Given the description of an element on the screen output the (x, y) to click on. 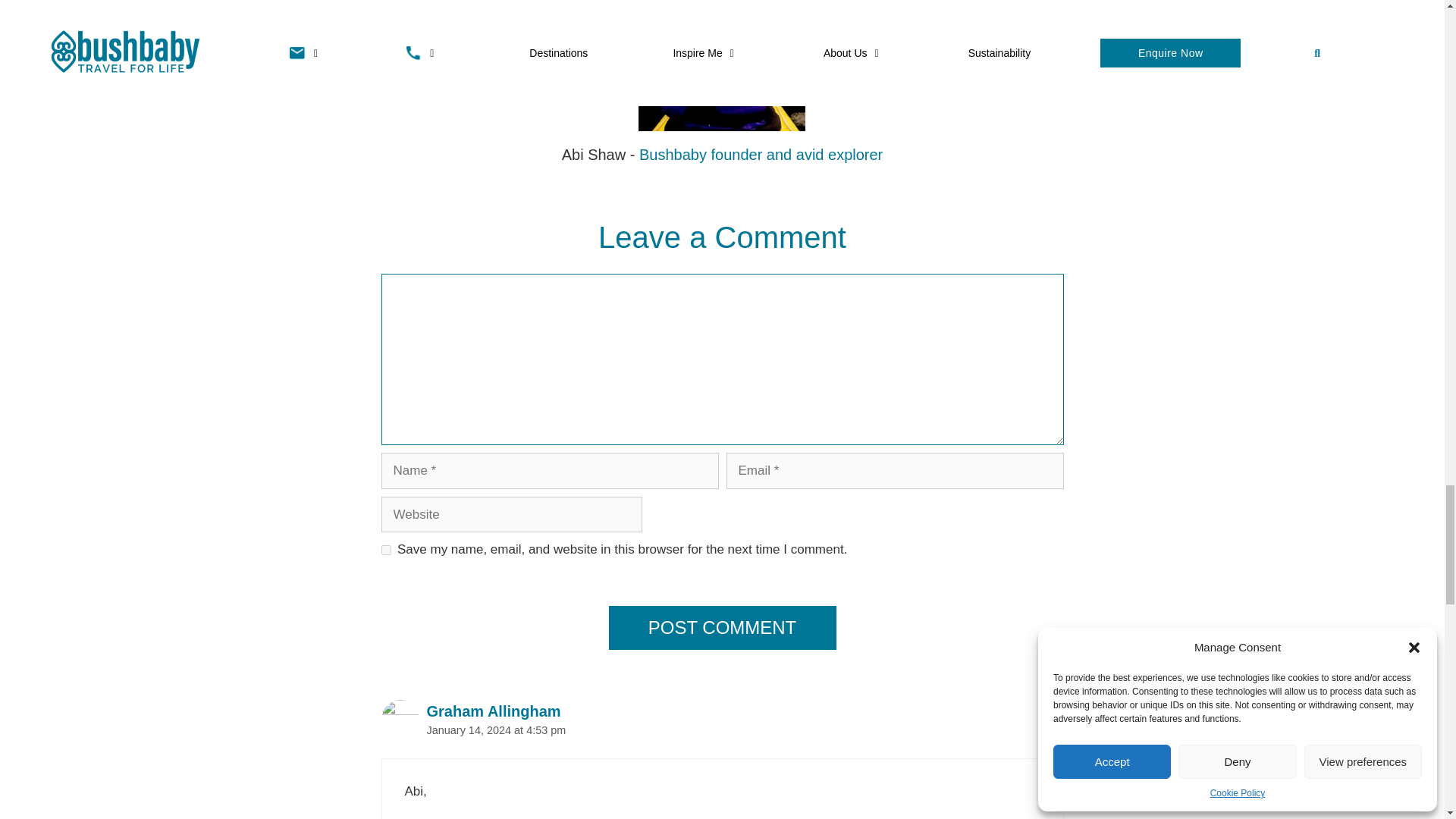
Post Comment (721, 628)
yes (385, 550)
